Given the description of an element on the screen output the (x, y) to click on. 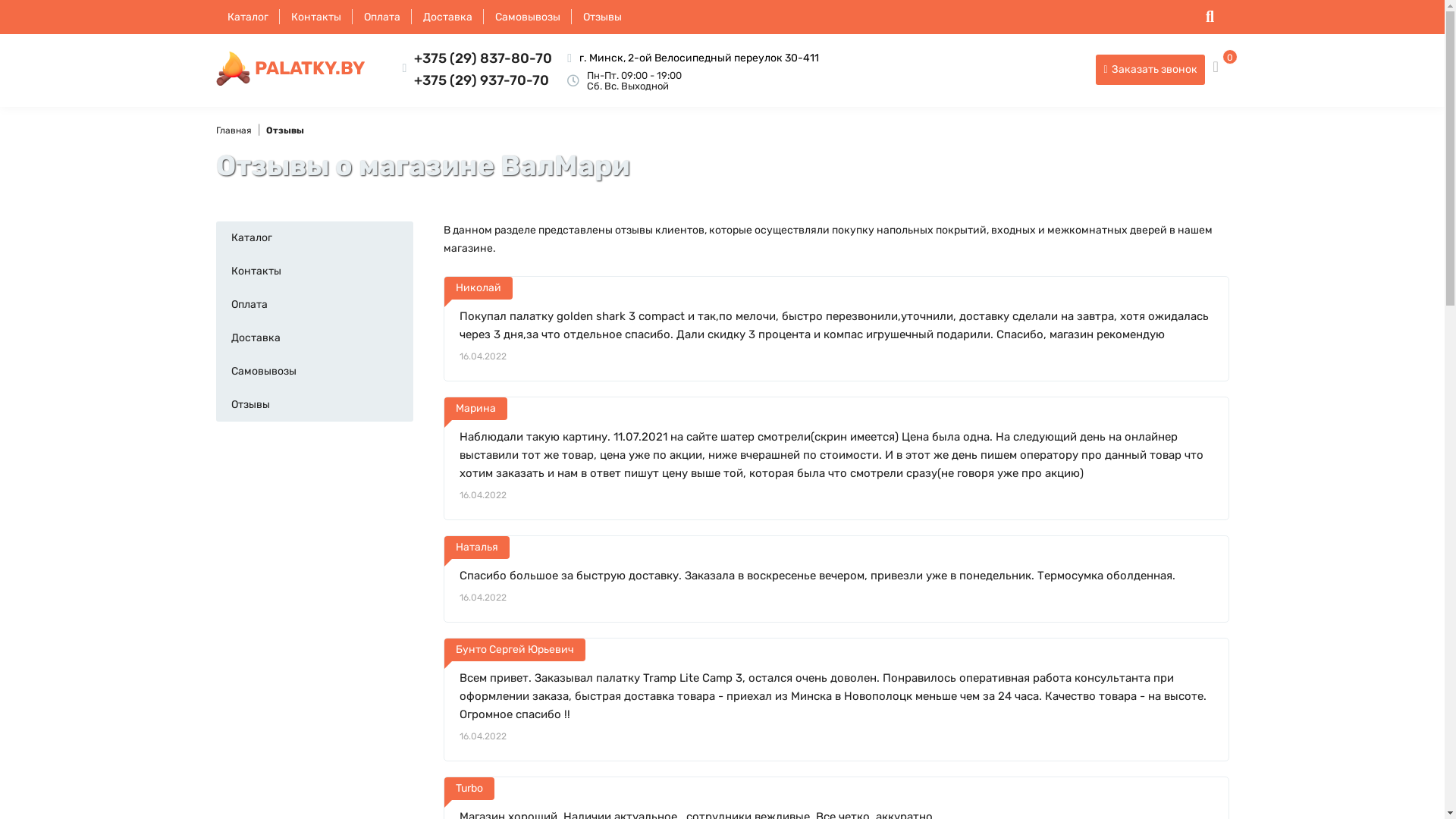
+375 (29) 937-70-70 Element type: text (481, 80)
+375 (29) 837-80-70 Element type: text (483, 58)
0 Element type: text (1220, 63)
